Given the description of an element on the screen output the (x, y) to click on. 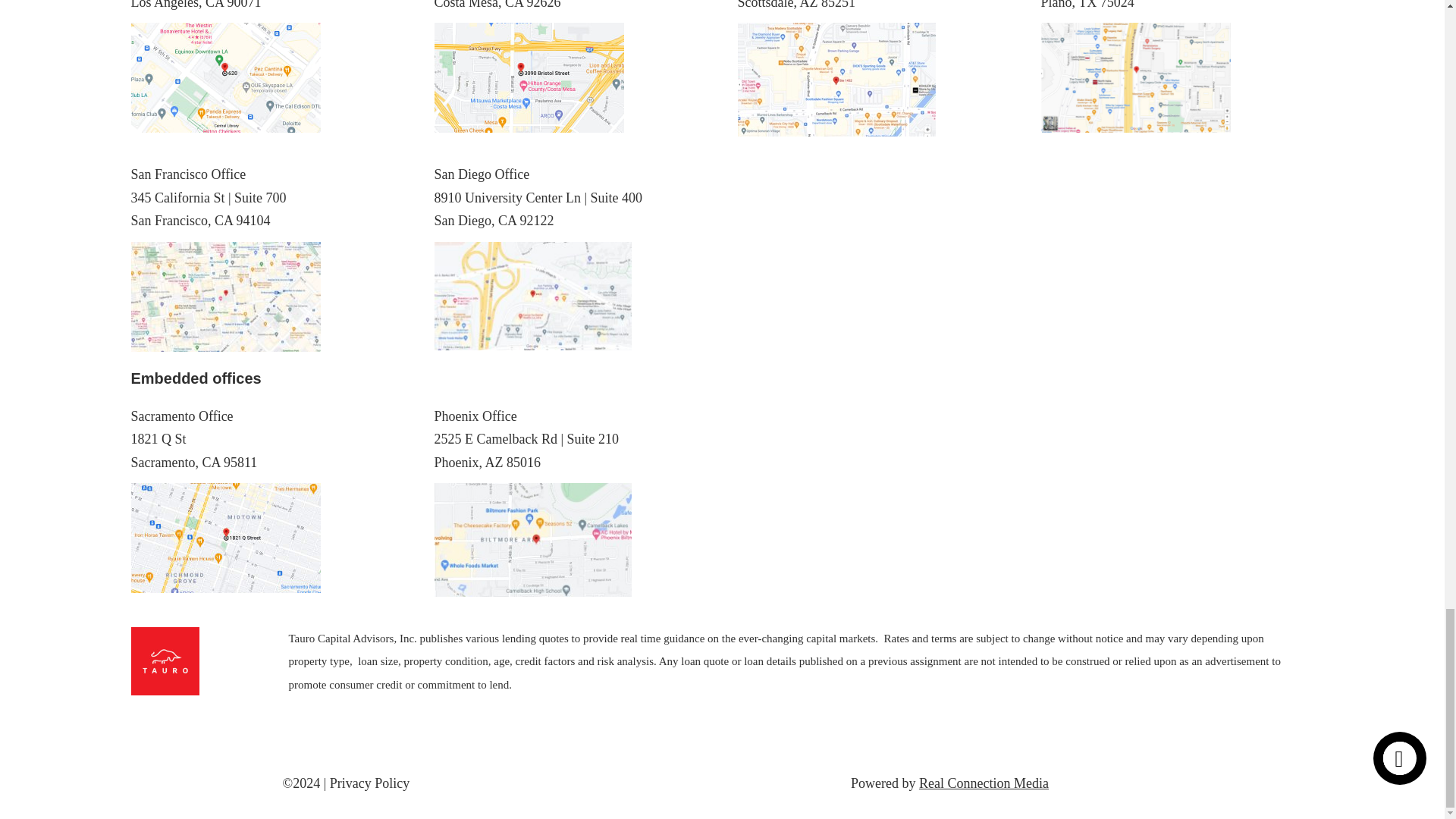
Untitled design (1135, 77)
costa mesa office (528, 77)
tauro-about-logo (164, 661)
los angeles office (225, 77)
Screen Shot 2022-06-28 at 1.03.59 PM (835, 79)
sacramento office (225, 537)
Tauro Capital Advisors San Francisco Office (225, 296)
Screenshot 2023-01-11 at 2.55.26 PM (531, 296)
